Given the description of an element on the screen output the (x, y) to click on. 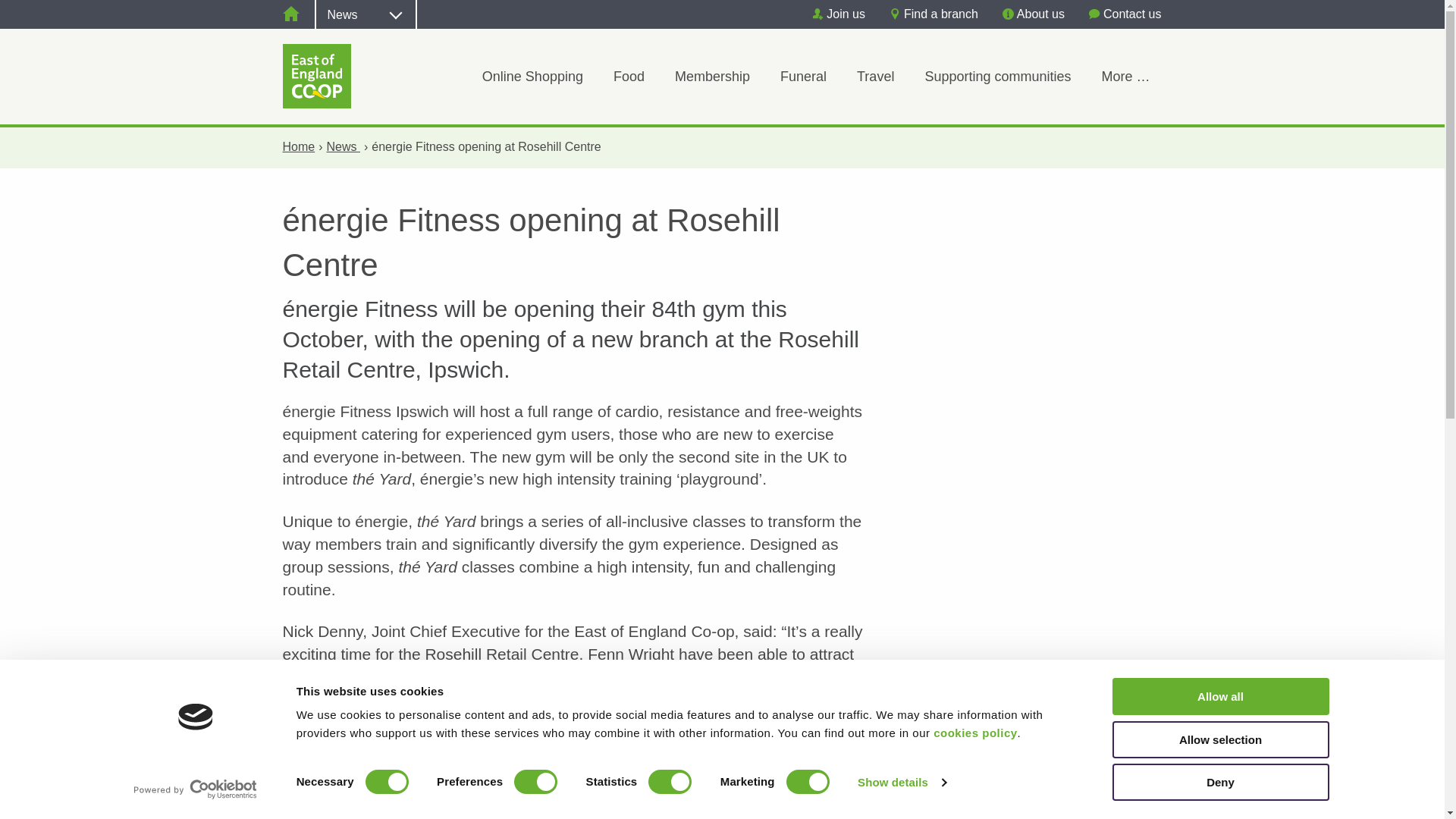
cookies policy (974, 732)
Show details (900, 782)
